Given the description of an element on the screen output the (x, y) to click on. 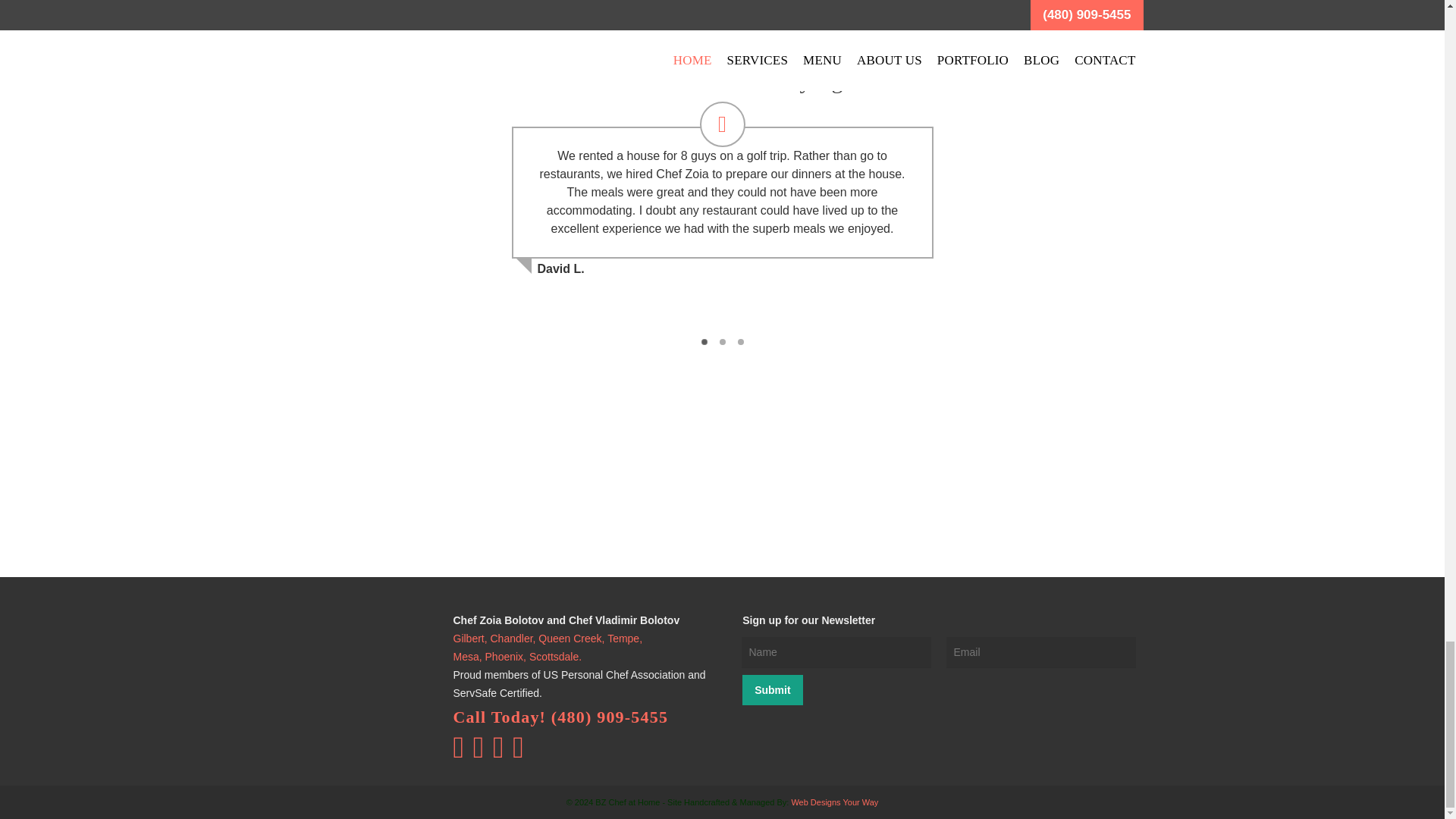
1 (703, 341)
Web Designs Your Way (833, 801)
Submit (772, 689)
Submit (772, 689)
2 (721, 341)
3 (740, 341)
